Given the description of an element on the screen output the (x, y) to click on. 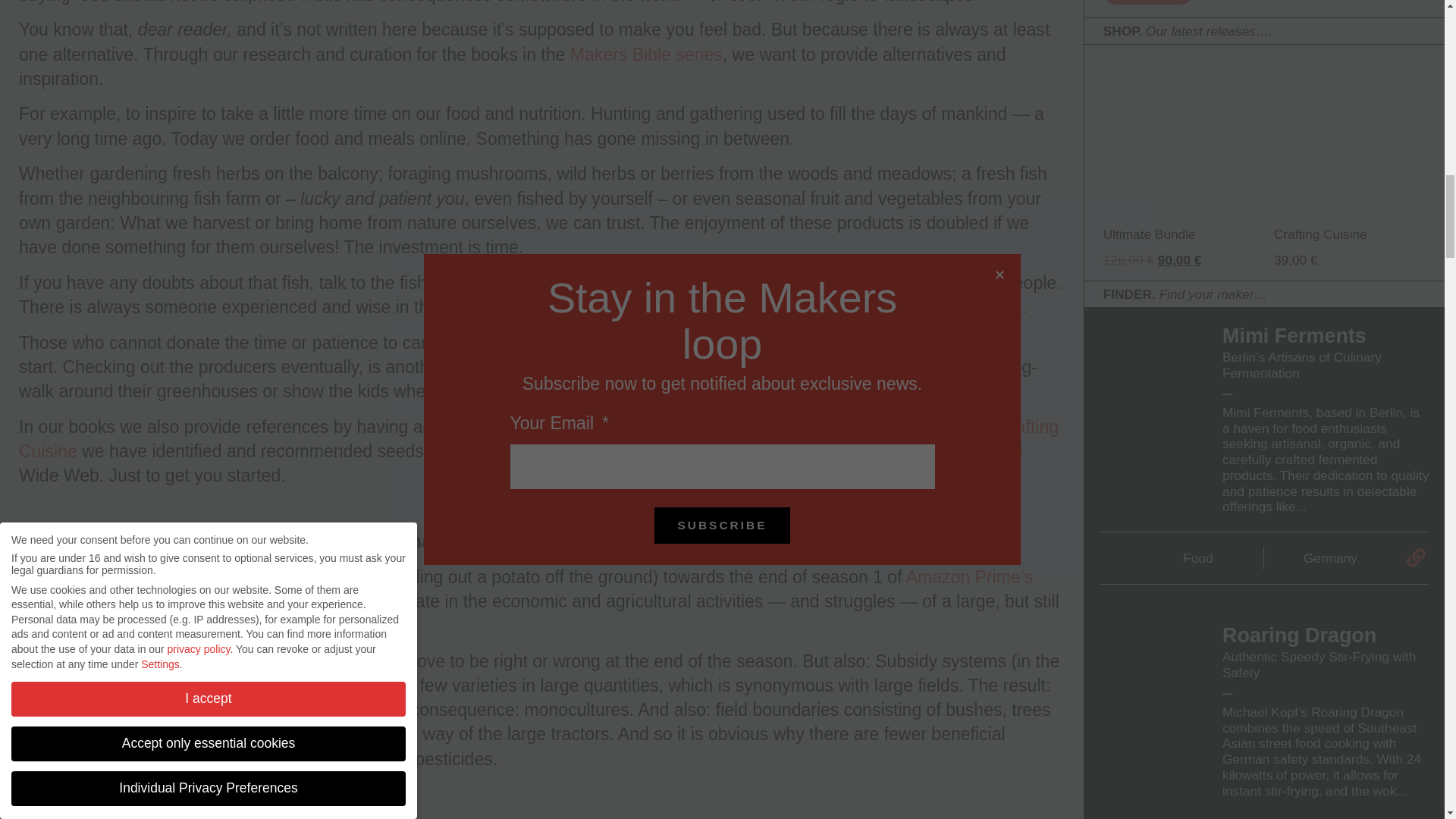
forests (797, 282)
Crafting Cuisine (538, 438)
herbs (675, 306)
Makers Bible series (646, 54)
Makers-Bible-finder-roaring-dragon (1151, 679)
Makers-Bible-finder-mimi-ferments (1151, 379)
